Given the description of an element on the screen output the (x, y) to click on. 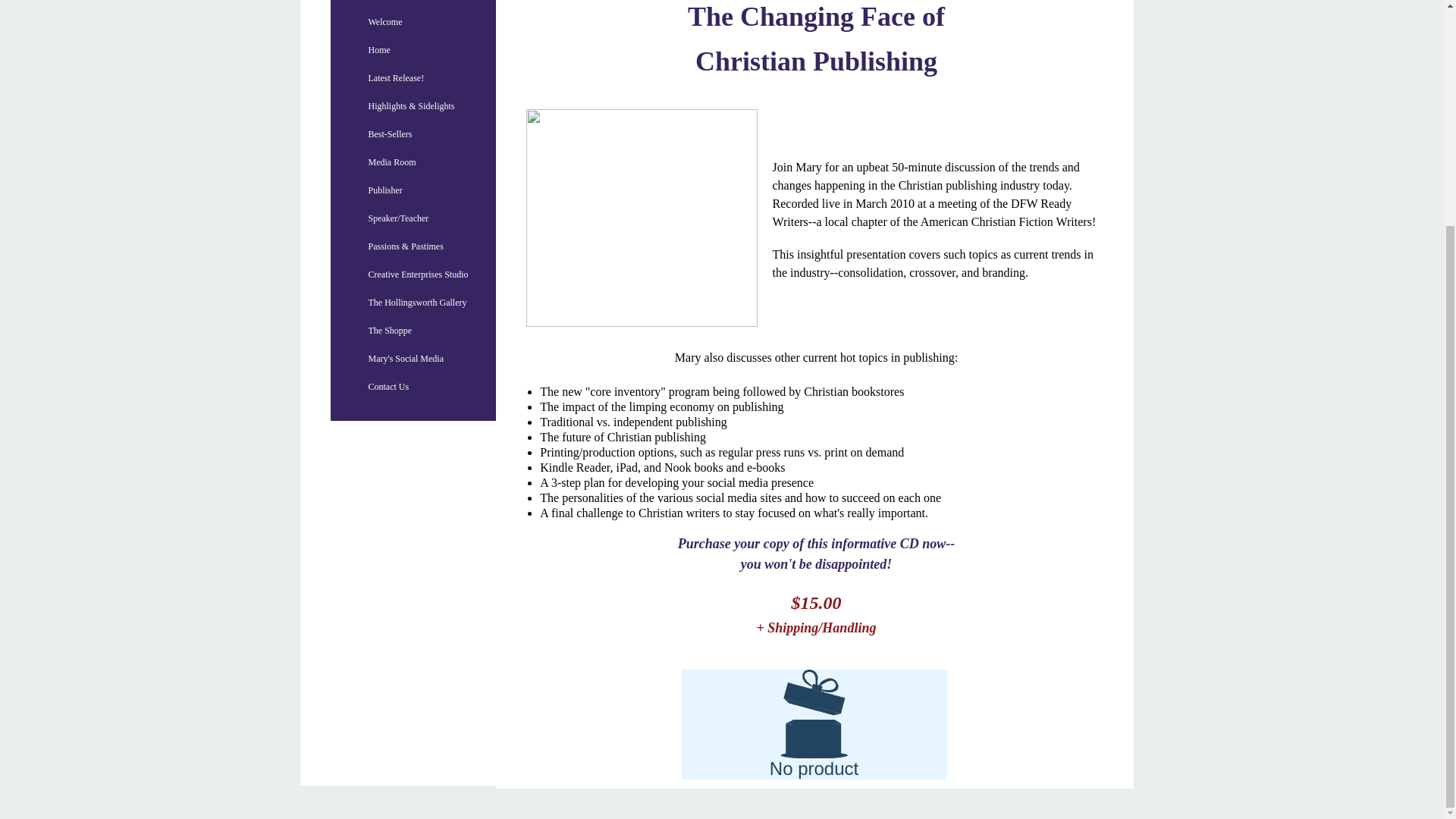
Media Room (392, 162)
Contact Us (388, 386)
The Shoppe (390, 330)
Latest Release! (396, 77)
Best-Sellers (390, 134)
Mary's Social Media (406, 358)
Home (379, 49)
Publisher (385, 190)
Welcome (385, 22)
Creative Enterprises Studio (418, 274)
The Hollingsworth Gallery (417, 302)
